Given the description of an element on the screen output the (x, y) to click on. 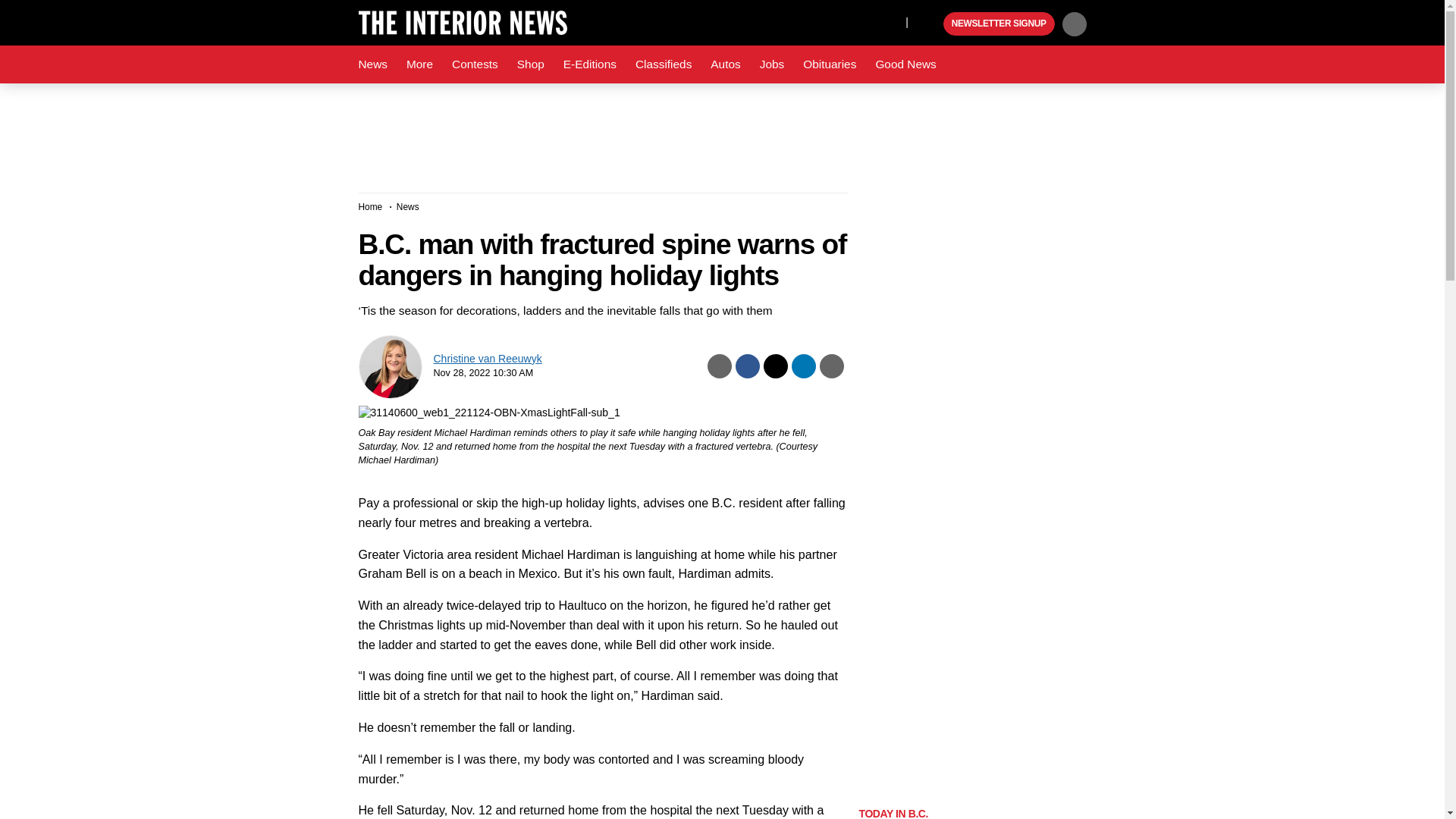
Play (929, 24)
X (889, 21)
News (372, 64)
Black Press Media (929, 24)
NEWSLETTER SIGNUP (998, 24)
